Given the description of an element on the screen output the (x, y) to click on. 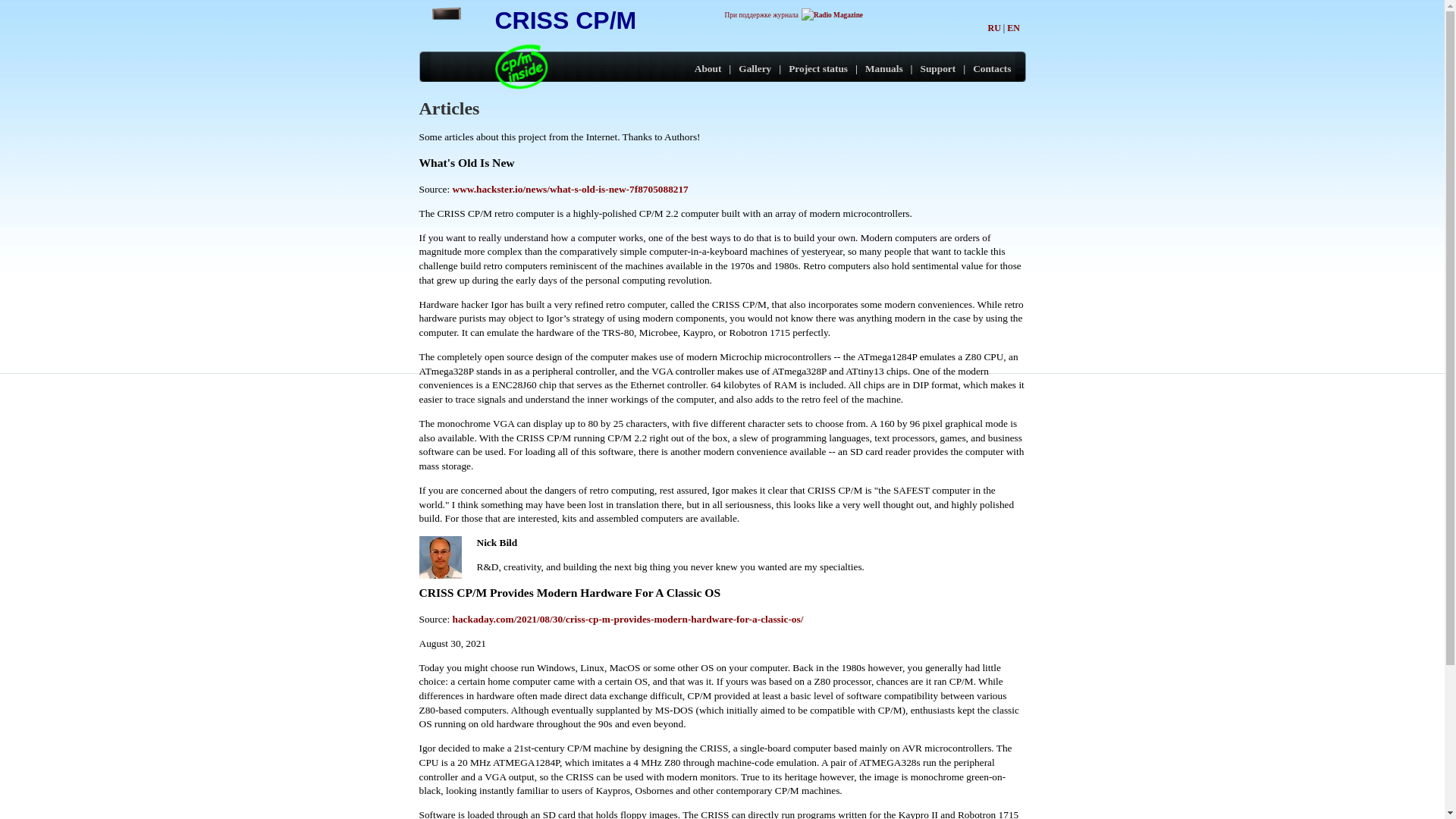
Project status (818, 67)
EN (1013, 27)
Contacts (991, 67)
Manuals (883, 67)
RU (993, 27)
Gallery (754, 67)
About (708, 67)
Support (938, 67)
